Given the description of an element on the screen output the (x, y) to click on. 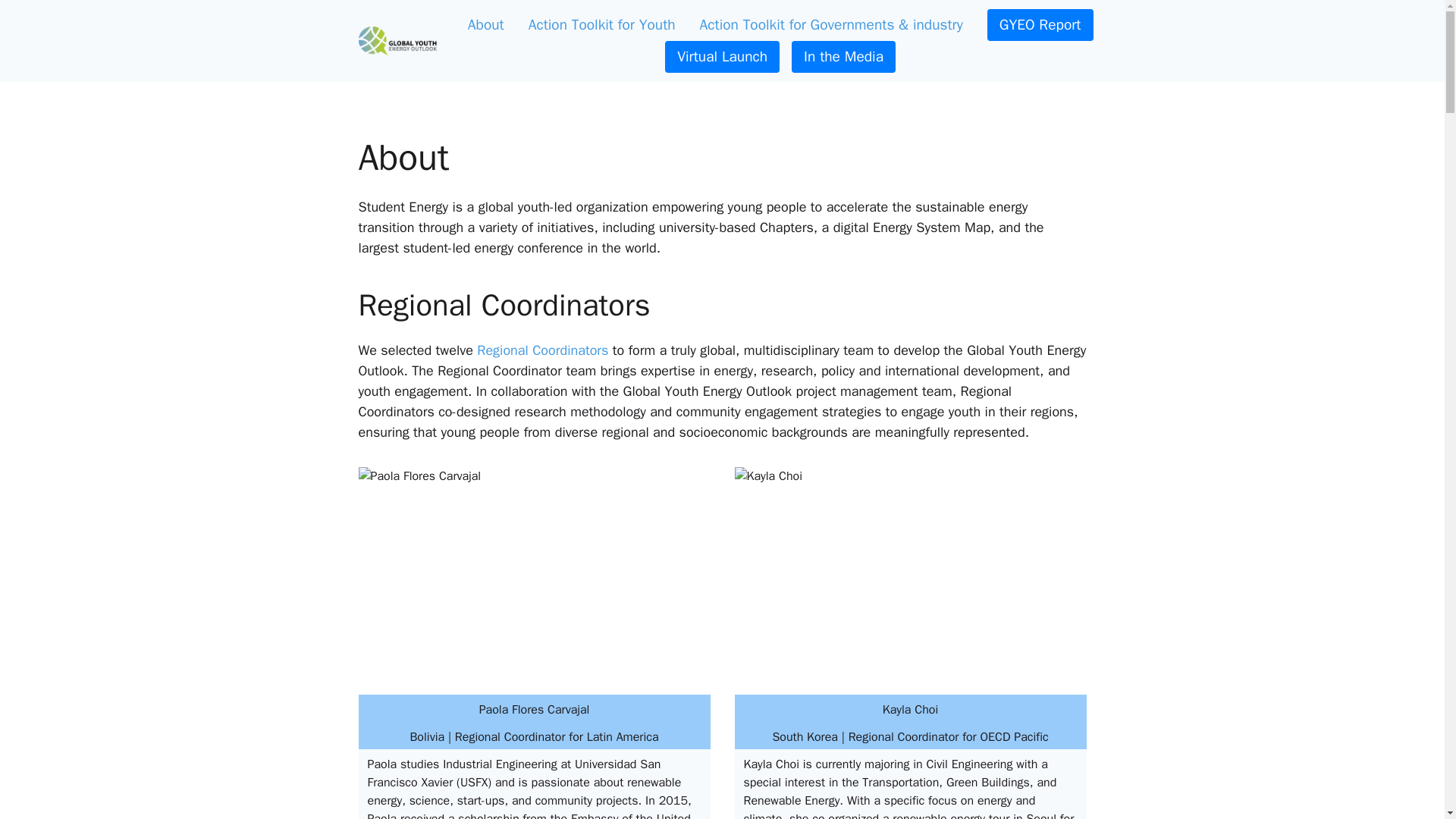
In the Media (843, 56)
Regional Coordinators (542, 350)
GYEO Report (1040, 24)
Virtual Launch (721, 56)
Action Toolkit for Youth (601, 24)
About (485, 24)
